Given the description of an element on the screen output the (x, y) to click on. 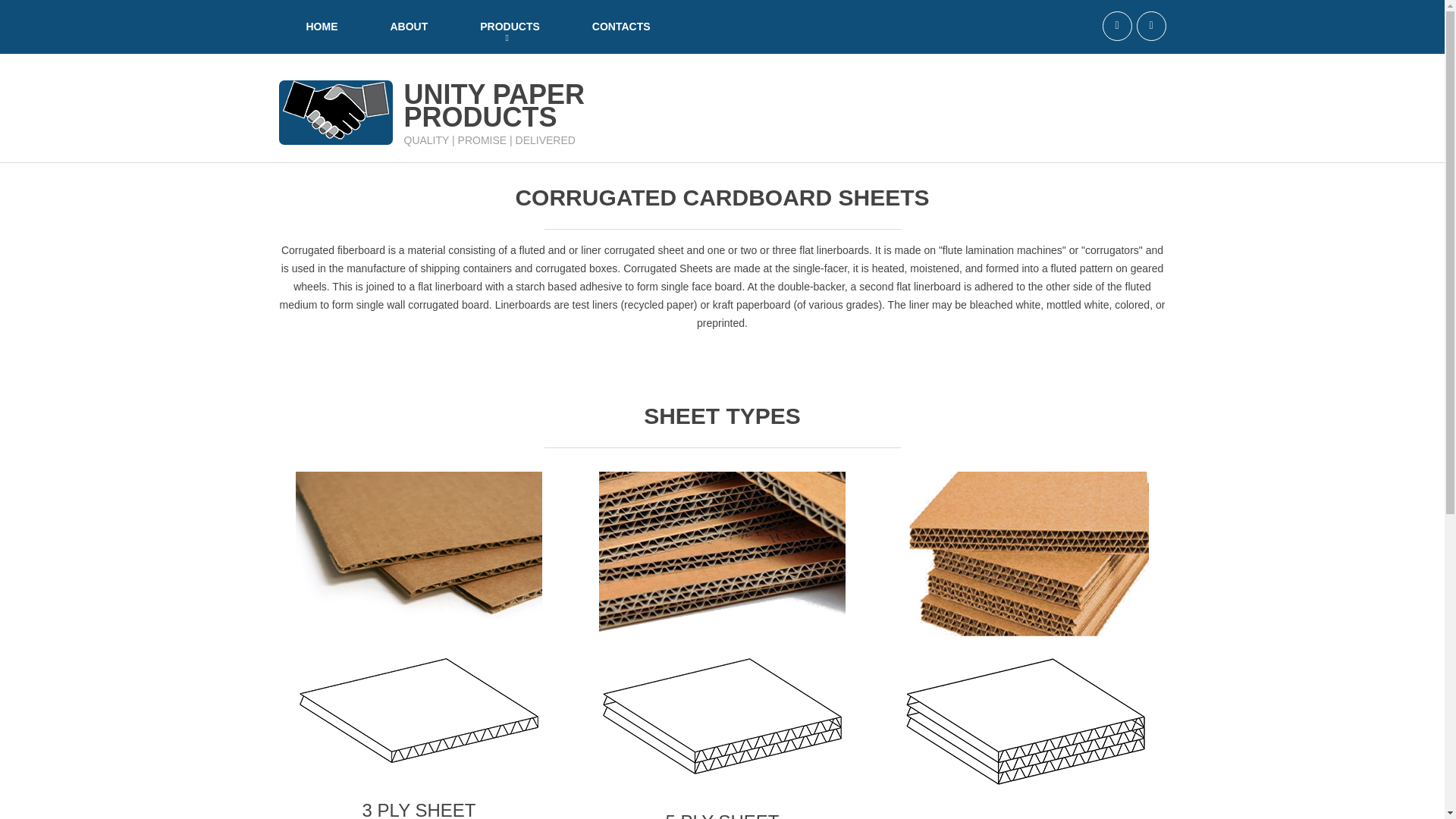
HOME (322, 27)
ABOUT (494, 105)
PRODUCTS (408, 27)
CONTACTS (509, 27)
